Given the description of an element on the screen output the (x, y) to click on. 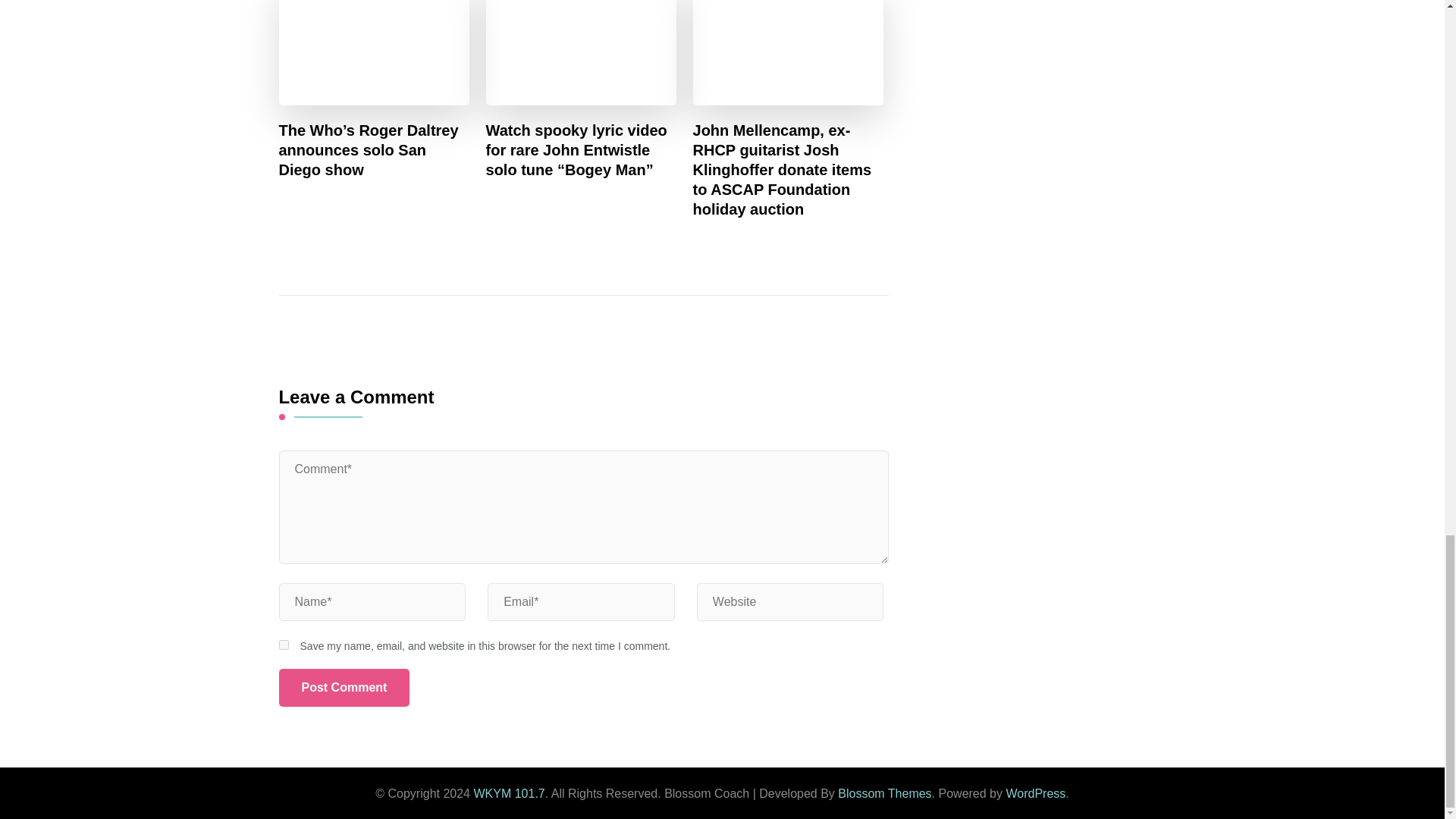
Post Comment (344, 687)
Post Comment (344, 687)
yes (283, 644)
